Given the description of an element on the screen output the (x, y) to click on. 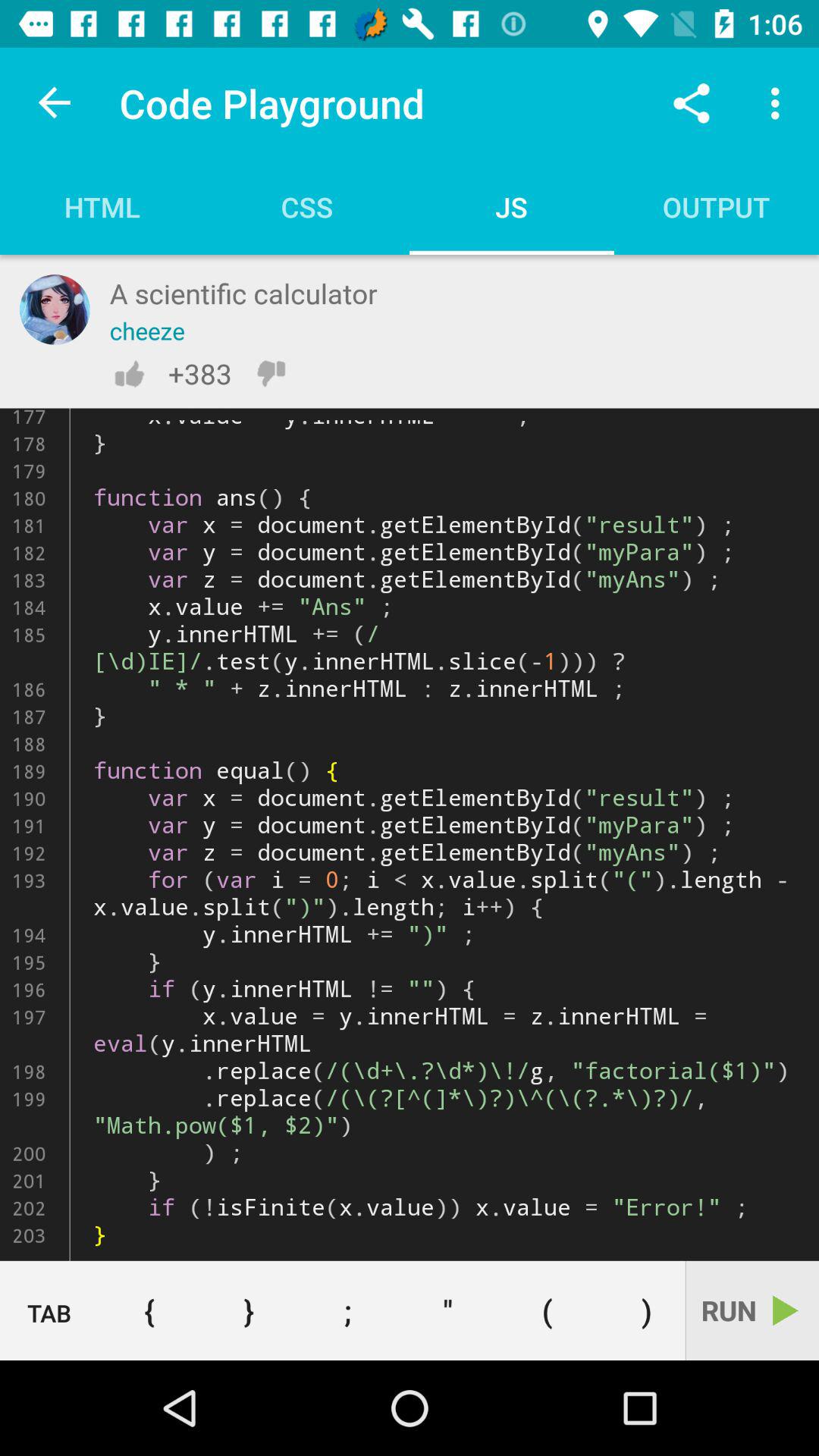
like this code (129, 373)
